Given the description of an element on the screen output the (x, y) to click on. 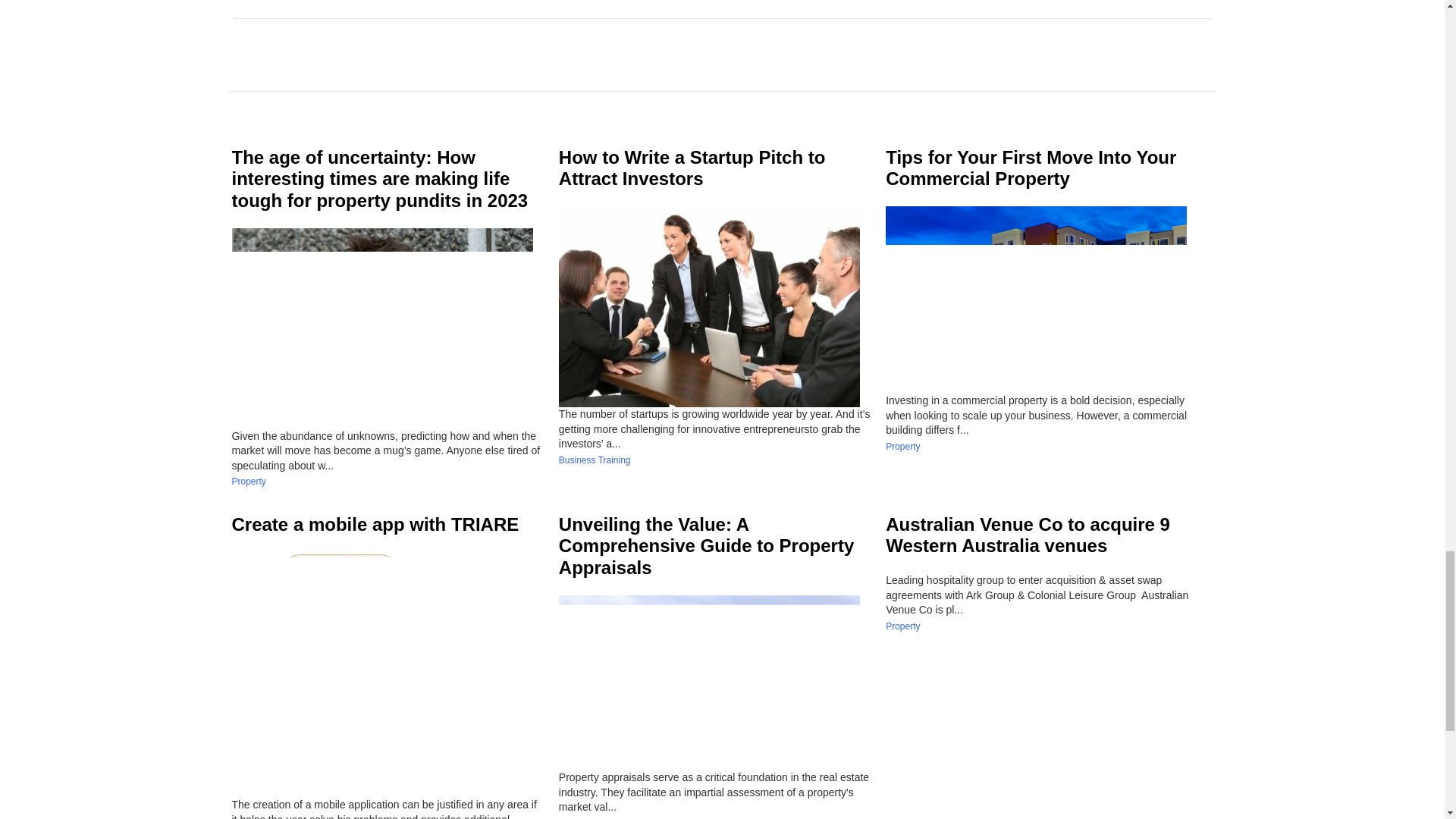
Property (902, 446)
Tips for Your First Move Into Your Commercial Property (1030, 168)
How to Write a Startup Pitch to Attract Investors (692, 168)
Create a mobile app with TRIARE (375, 524)
Property (248, 480)
How to Write a Startup Pitch to Attract Investors (692, 168)
Business Training (594, 460)
